Given the description of an element on the screen output the (x, y) to click on. 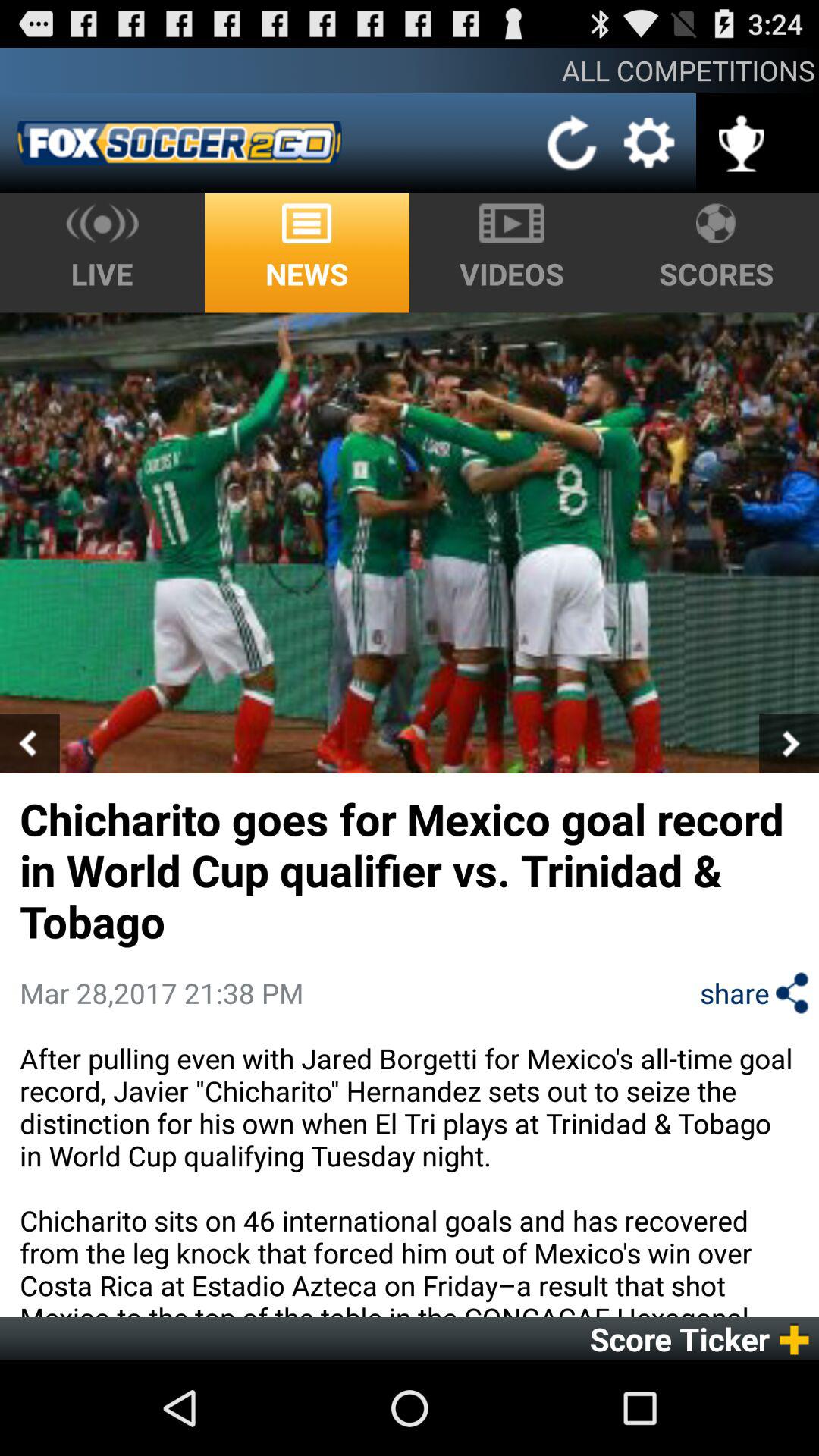
turn off the app below the all competitions icon (179, 142)
